Given the description of an element on the screen output the (x, y) to click on. 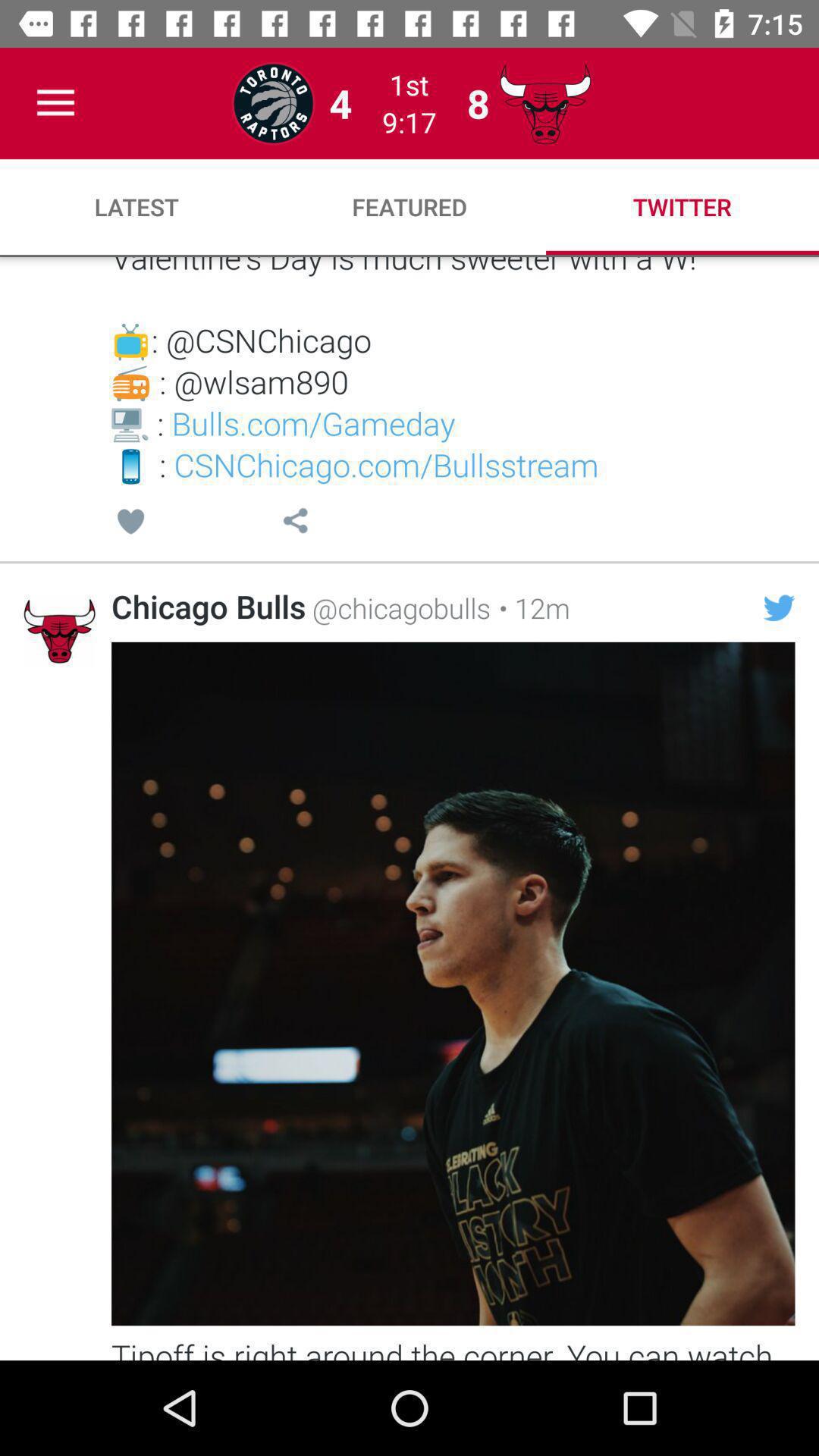
open icon above the latest item (55, 103)
